Given the description of an element on the screen output the (x, y) to click on. 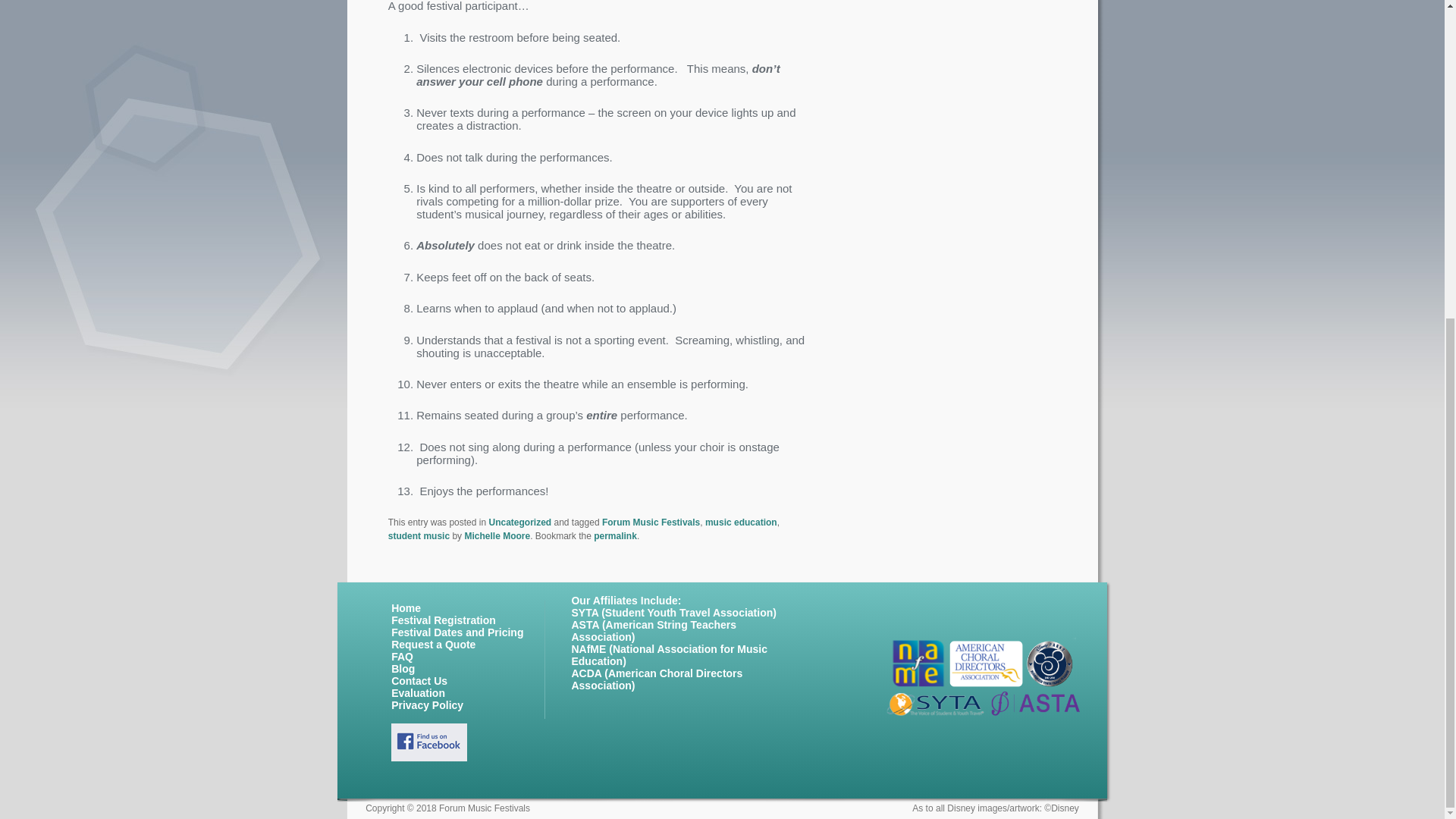
Uncategorized (519, 521)
student music (418, 535)
Blog (402, 668)
Forum Music Festivals (651, 521)
Festival Registration (443, 620)
Contact Us (418, 680)
Festival Dates and Pricing (456, 632)
Michelle Moore (496, 535)
Facebook (429, 742)
